Given the description of an element on the screen output the (x, y) to click on. 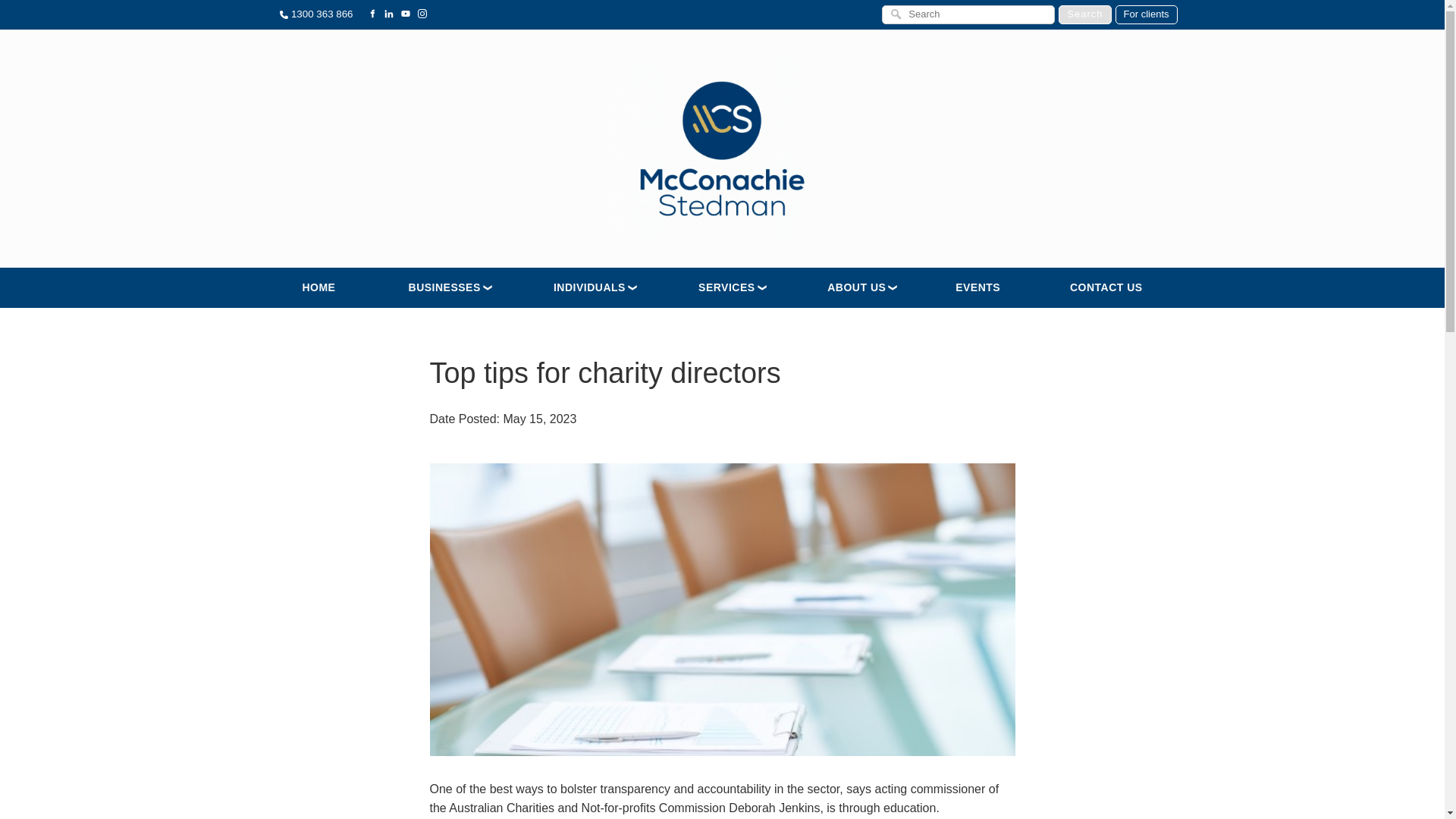
Youtube (405, 13)
INDIVIDUALS (588, 287)
Search (1084, 14)
HOME (317, 287)
BUSINESSES (442, 287)
1300 363 866 (315, 12)
CONTACT US (1106, 287)
For clients (1146, 14)
Facebook (372, 13)
ABOUT US (854, 287)
LinkedIn (388, 13)
Instagram (421, 13)
EVENTS (977, 287)
SERVICES (725, 287)
